Given the description of an element on the screen output the (x, y) to click on. 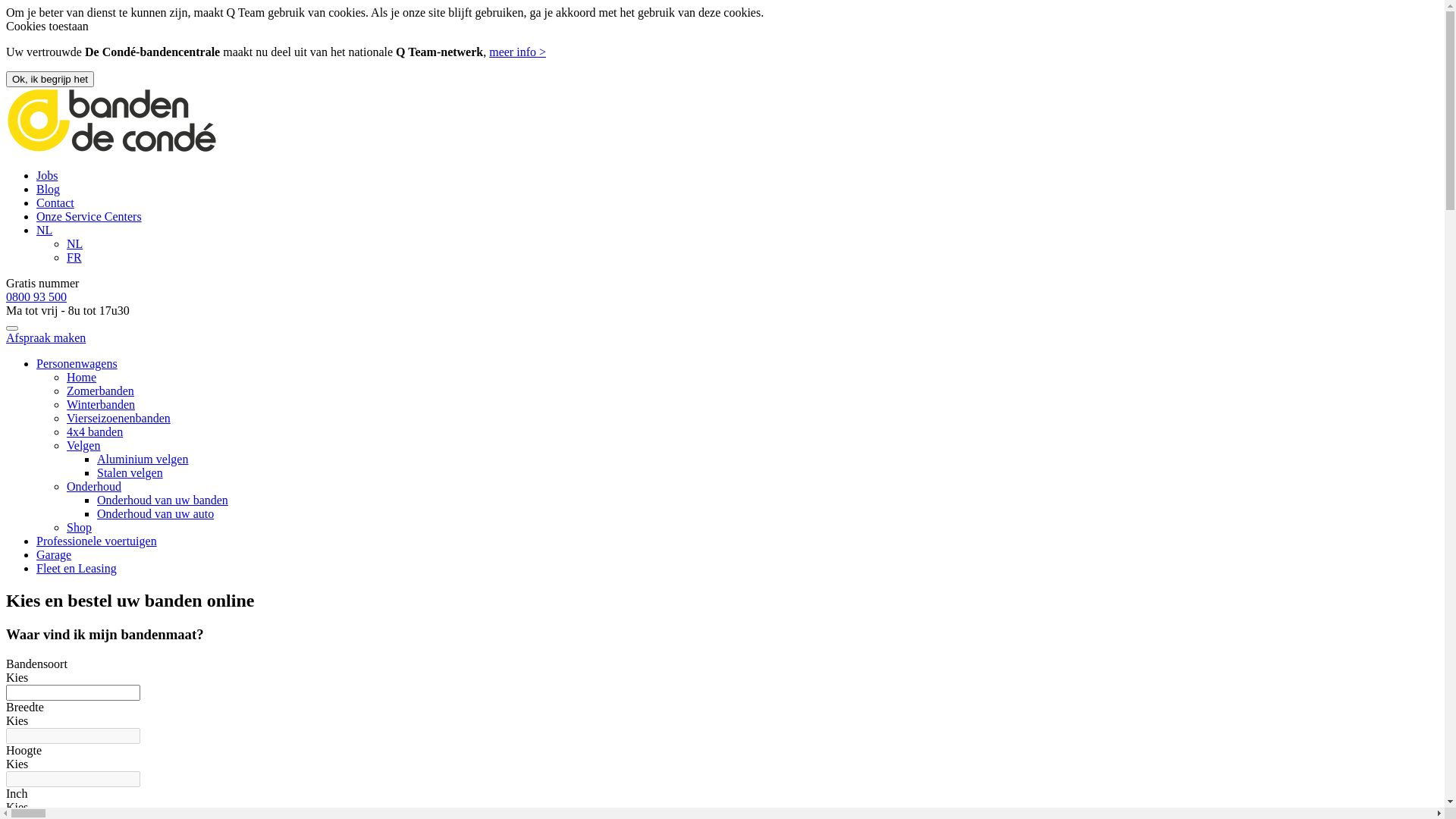
Onze Service Centers Element type: text (88, 216)
Velgen Element type: text (83, 445)
Onderhoud van uw auto Element type: text (155, 513)
Professionele voertuigen Element type: text (96, 540)
NL Element type: text (44, 229)
Jobs Element type: text (46, 175)
Fleet en Leasing Element type: text (76, 567)
Vierseizoenenbanden Element type: text (118, 417)
Shop Element type: text (78, 526)
Stalen velgen Element type: text (130, 472)
Ok, ik begrijp het Element type: text (50, 79)
Aluminium velgen Element type: text (142, 458)
Personenwagens Element type: text (76, 363)
Blog Element type: text (47, 188)
NL Element type: text (74, 243)
Onderhoud van uw banden Element type: text (162, 499)
Home Element type: text (81, 376)
0800 93 500 Element type: text (36, 296)
meer info > Element type: text (517, 51)
Cookies toestaan Element type: text (47, 25)
FR Element type: text (73, 257)
Winterbanden Element type: text (100, 404)
Contact Element type: text (55, 202)
Onderhoud Element type: text (93, 486)
Zomerbanden Element type: text (100, 390)
4x4 banden Element type: text (94, 431)
Afspraak maken Element type: text (45, 337)
Garage Element type: text (53, 554)
